Given the description of an element on the screen output the (x, y) to click on. 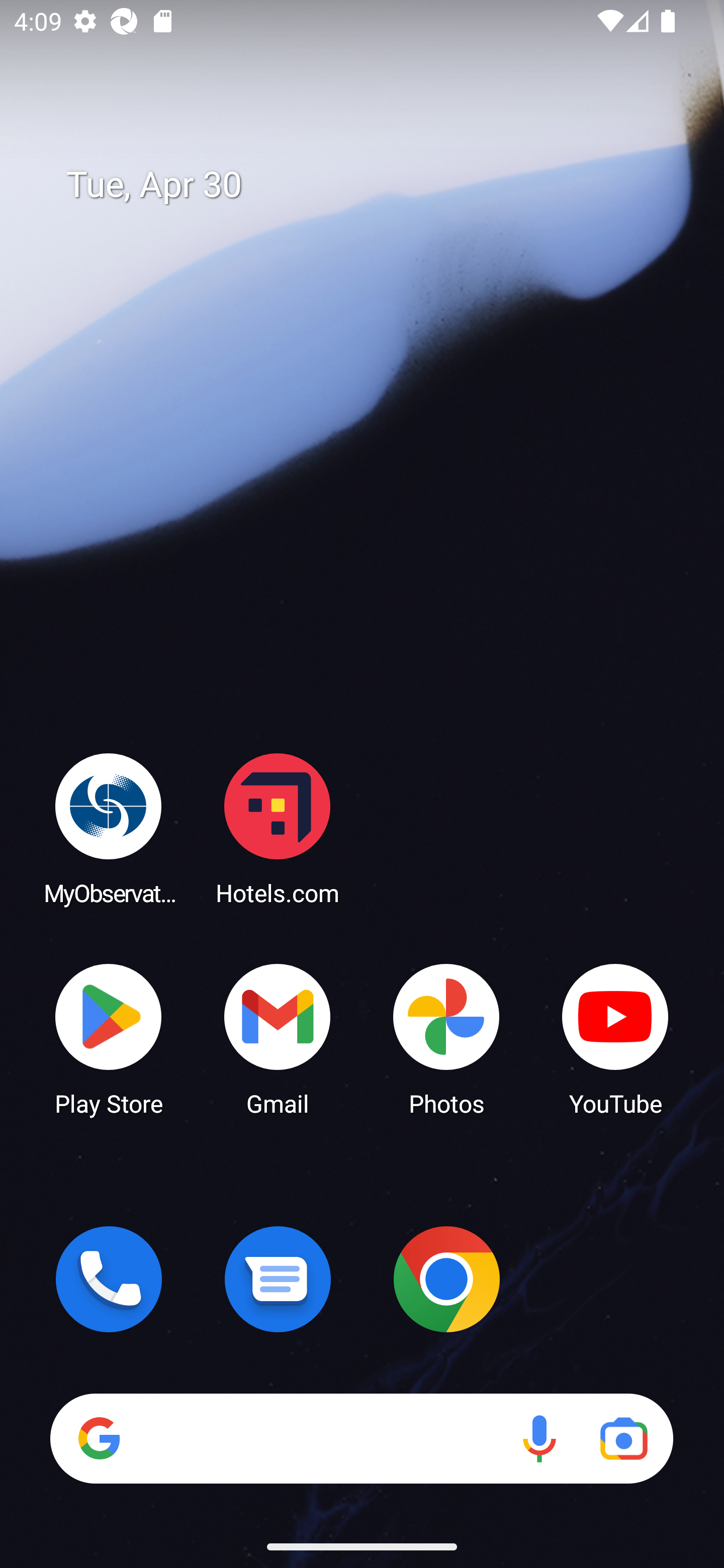
Tue, Apr 30 (375, 184)
MyObservatory (108, 828)
Hotels.com (277, 828)
Play Store (108, 1038)
Gmail (277, 1038)
Photos (445, 1038)
YouTube (615, 1038)
Phone (108, 1279)
Messages (277, 1279)
Chrome (446, 1279)
Voice search (539, 1438)
Google Lens (623, 1438)
